Given the description of an element on the screen output the (x, y) to click on. 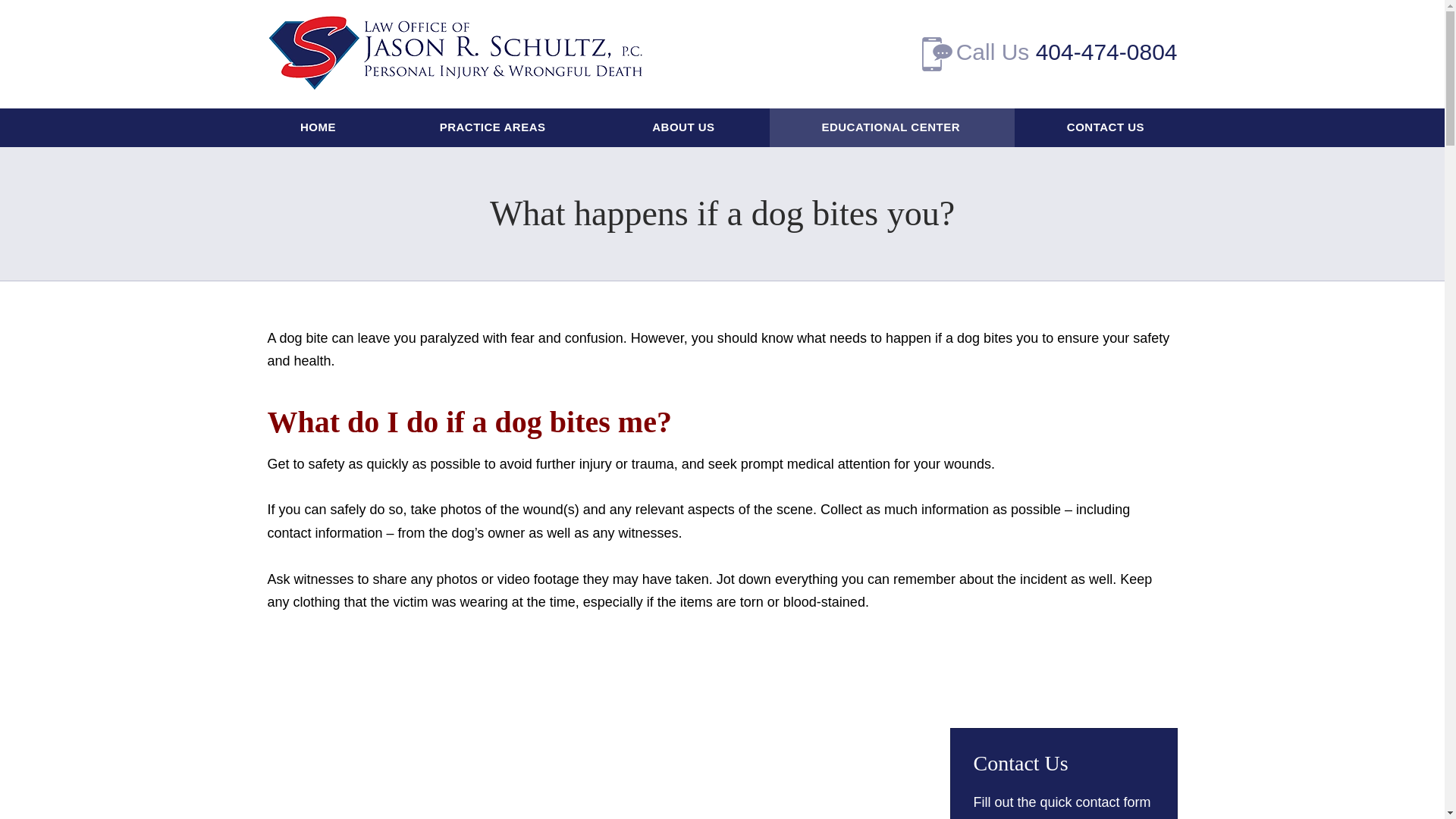
404-474-0804 (1106, 51)
ABOUT US (684, 127)
PRACTICE AREAS (493, 127)
EDUCATIONAL CENTER (892, 127)
HOME (318, 127)
CONTACT US (1104, 127)
